Given the description of an element on the screen output the (x, y) to click on. 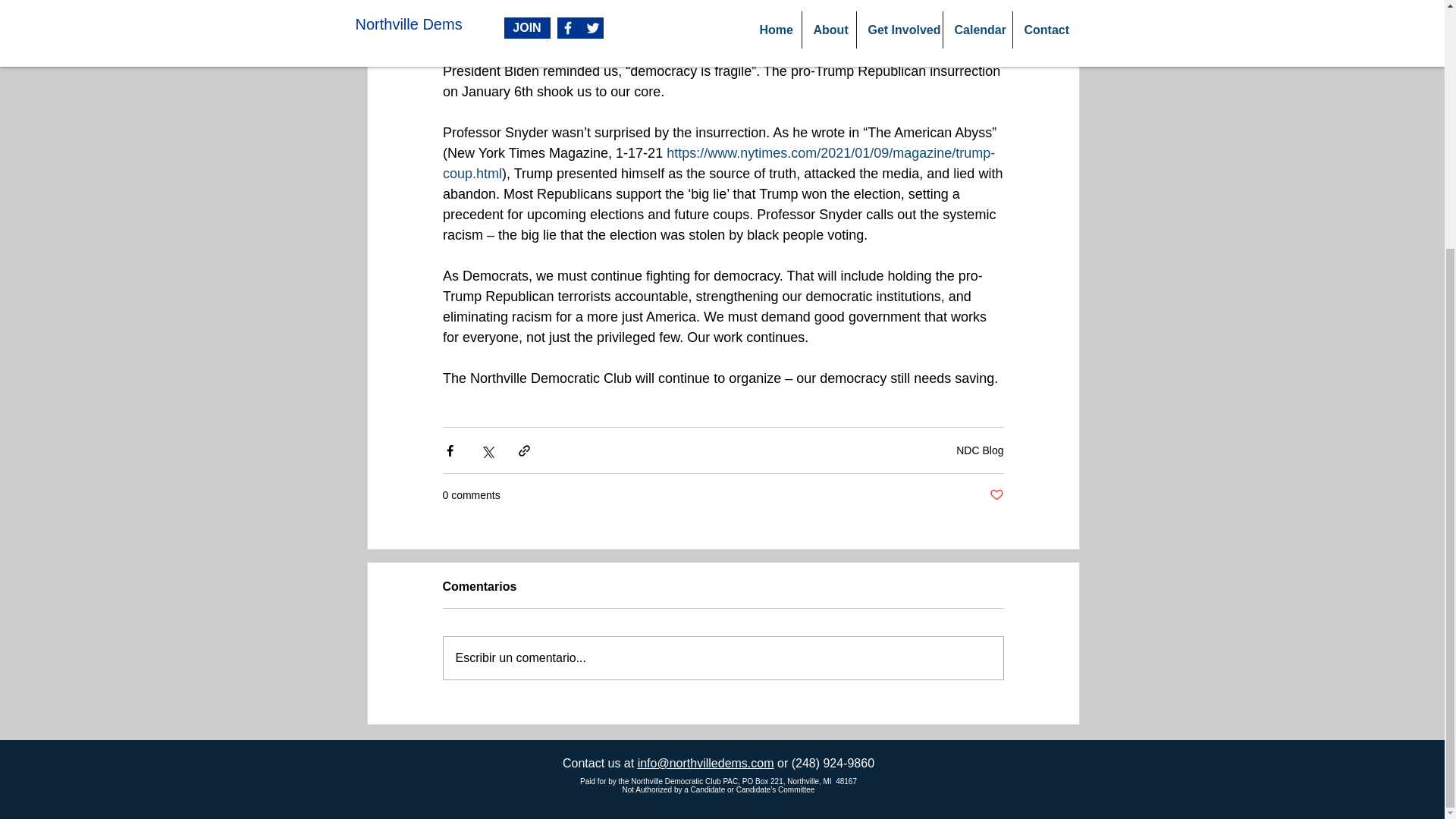
Escribir un comentario... (722, 658)
NDC Blog (979, 449)
Post not marked as liked (995, 495)
